Given the description of an element on the screen output the (x, y) to click on. 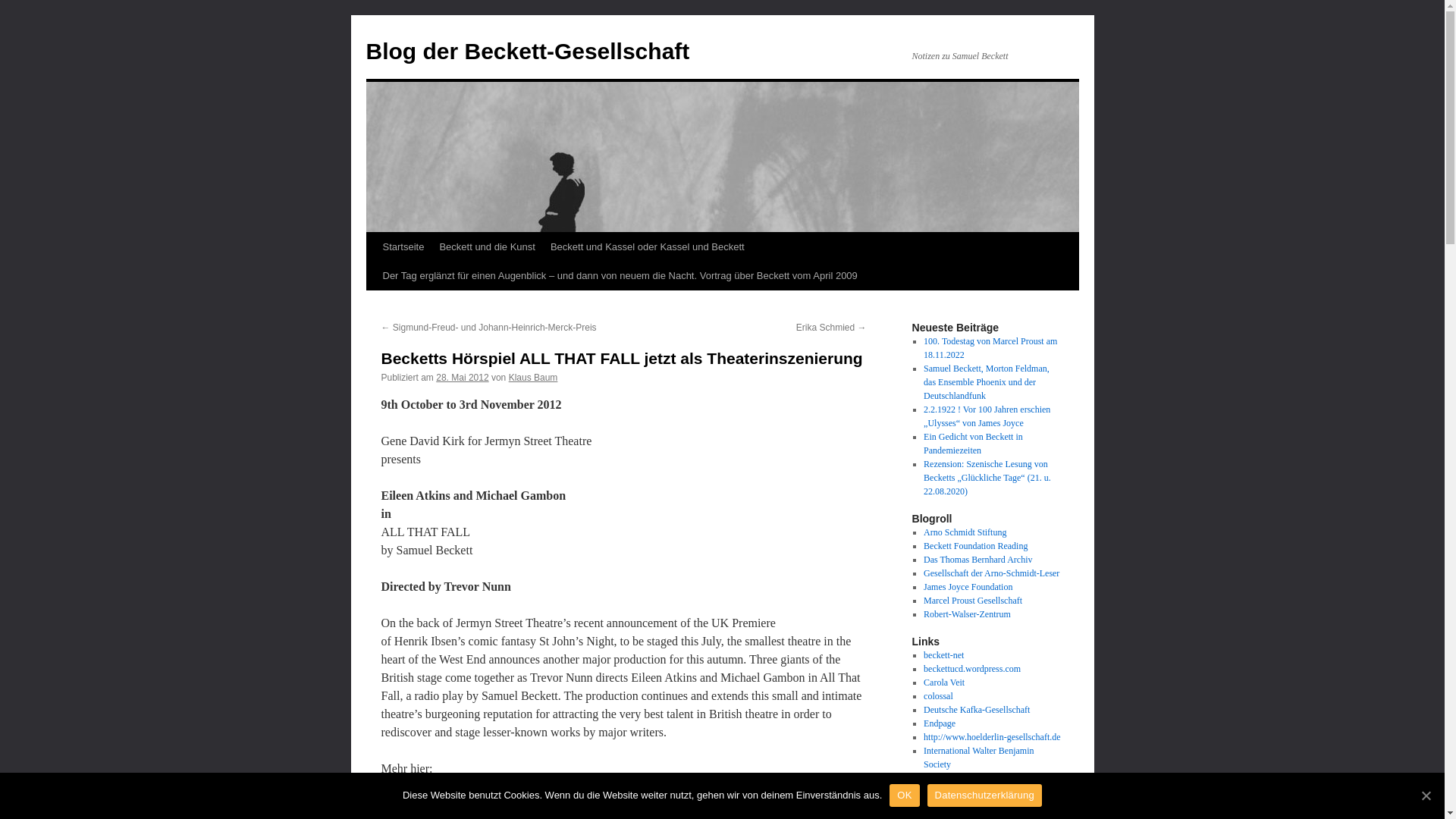
beckett-net (943, 655)
James Joyce Foundation (967, 586)
beckettucd.wordpress.com (971, 668)
Gesellschaft der Arno-Schmidt-Leser (991, 573)
Beckett Foundation Reading (975, 545)
Blog der Beckett-Gesellschaft (526, 50)
100. Todestag von Marcel Proust am 18.11.2022 (990, 347)
21:12 (461, 377)
Marcel Proust Gesellschaft (972, 600)
Carola Veit (943, 682)
Deutsche Kafka-Gesellschaft (976, 709)
Klaus Baum (532, 377)
Robert-Walser-Zentrum (966, 614)
Beckett und Kassel oder Kassel und Beckett (647, 246)
